Given the description of an element on the screen output the (x, y) to click on. 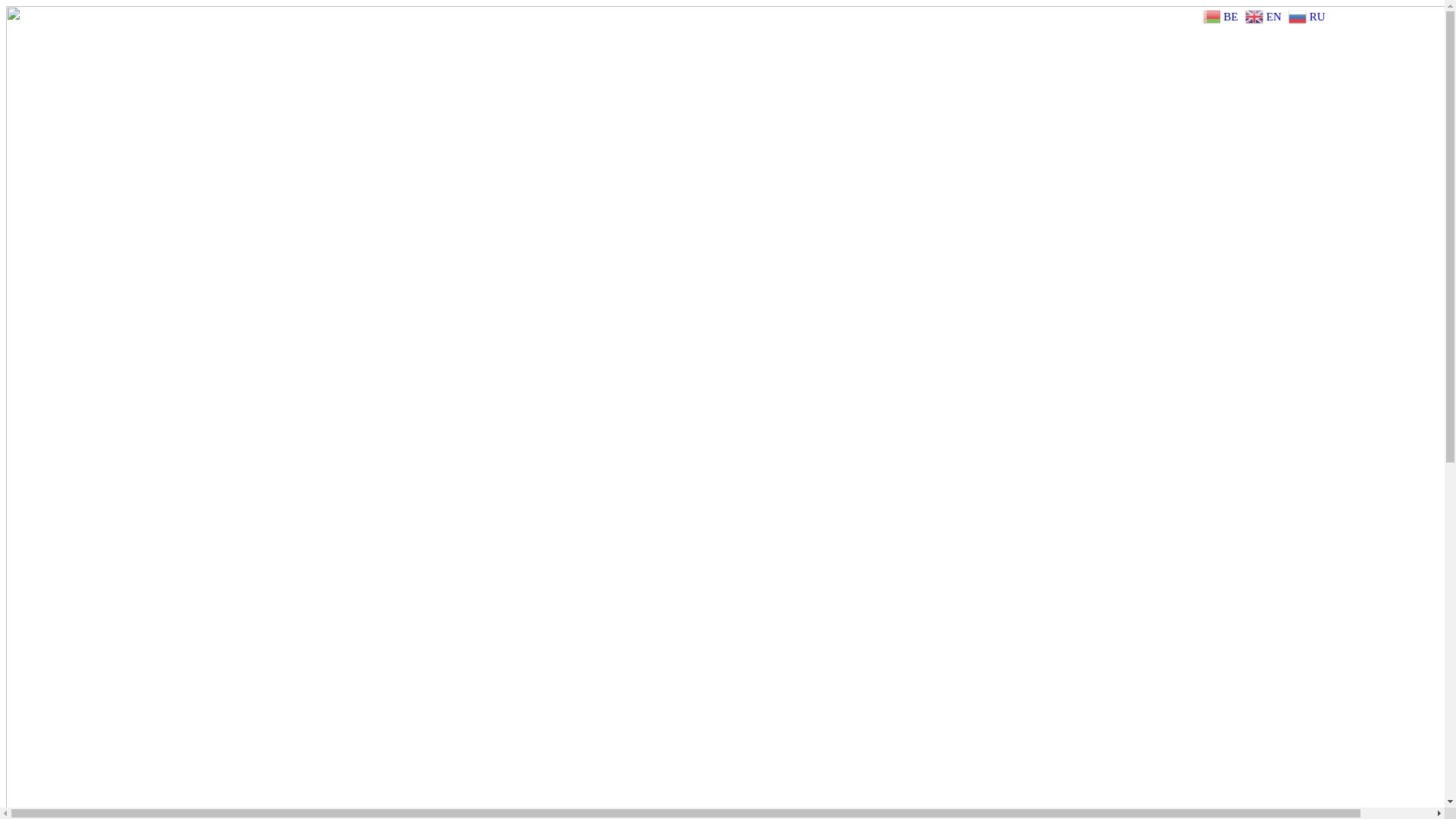
BE Element type: text (1222, 15)
EN Element type: text (1265, 15)
RU Element type: text (1308, 15)
